Given the description of an element on the screen output the (x, y) to click on. 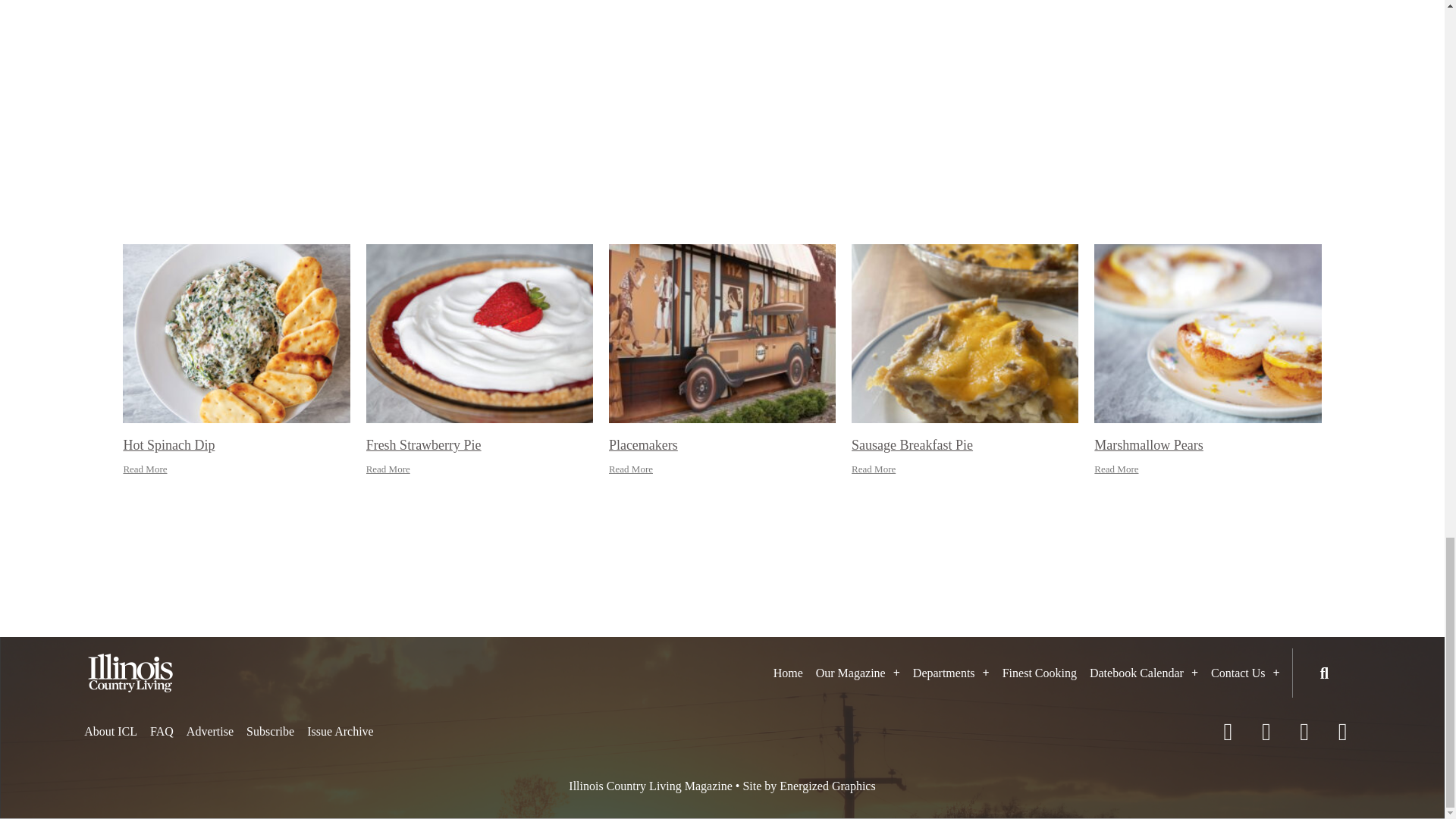
ICL-logo (130, 672)
